Given the description of an element on the screen output the (x, y) to click on. 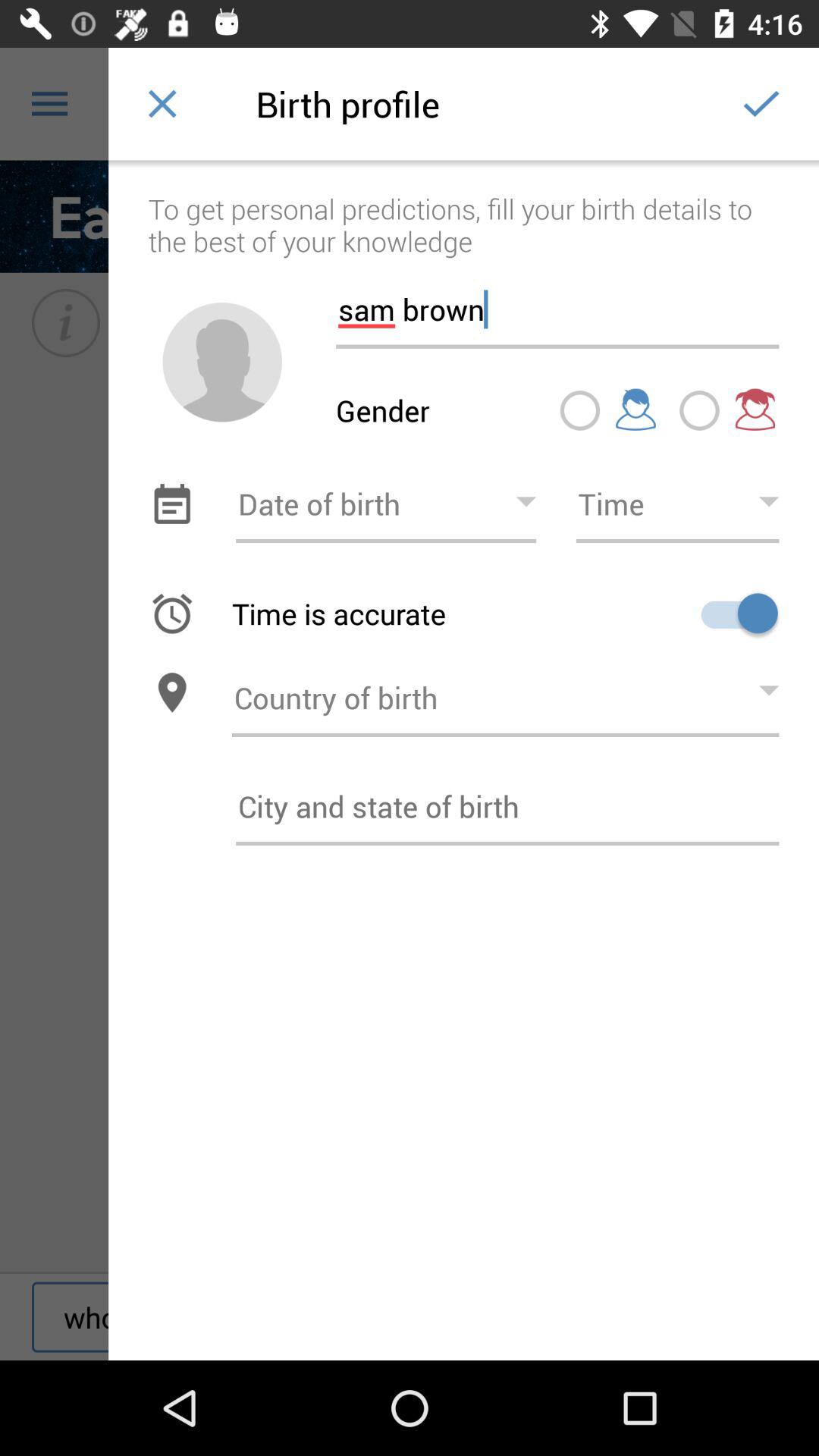
turn off the sam brown item (557, 303)
